Given the description of an element on the screen output the (x, y) to click on. 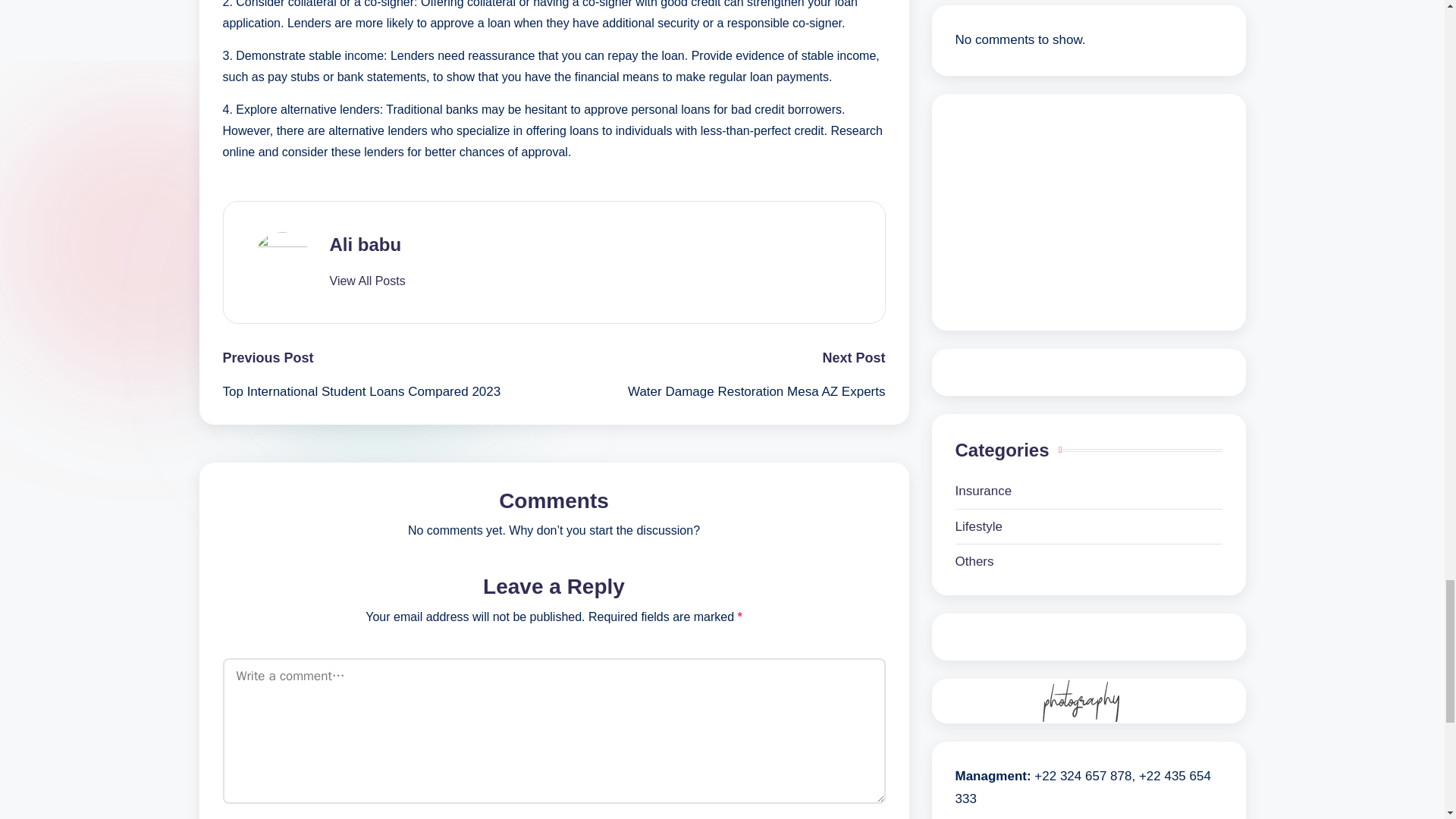
Top International Student Loans Compared 2023 (388, 392)
View All Posts (366, 281)
Water Damage Restoration Mesa AZ Experts (719, 392)
Ali babu (365, 244)
